Given the description of an element on the screen output the (x, y) to click on. 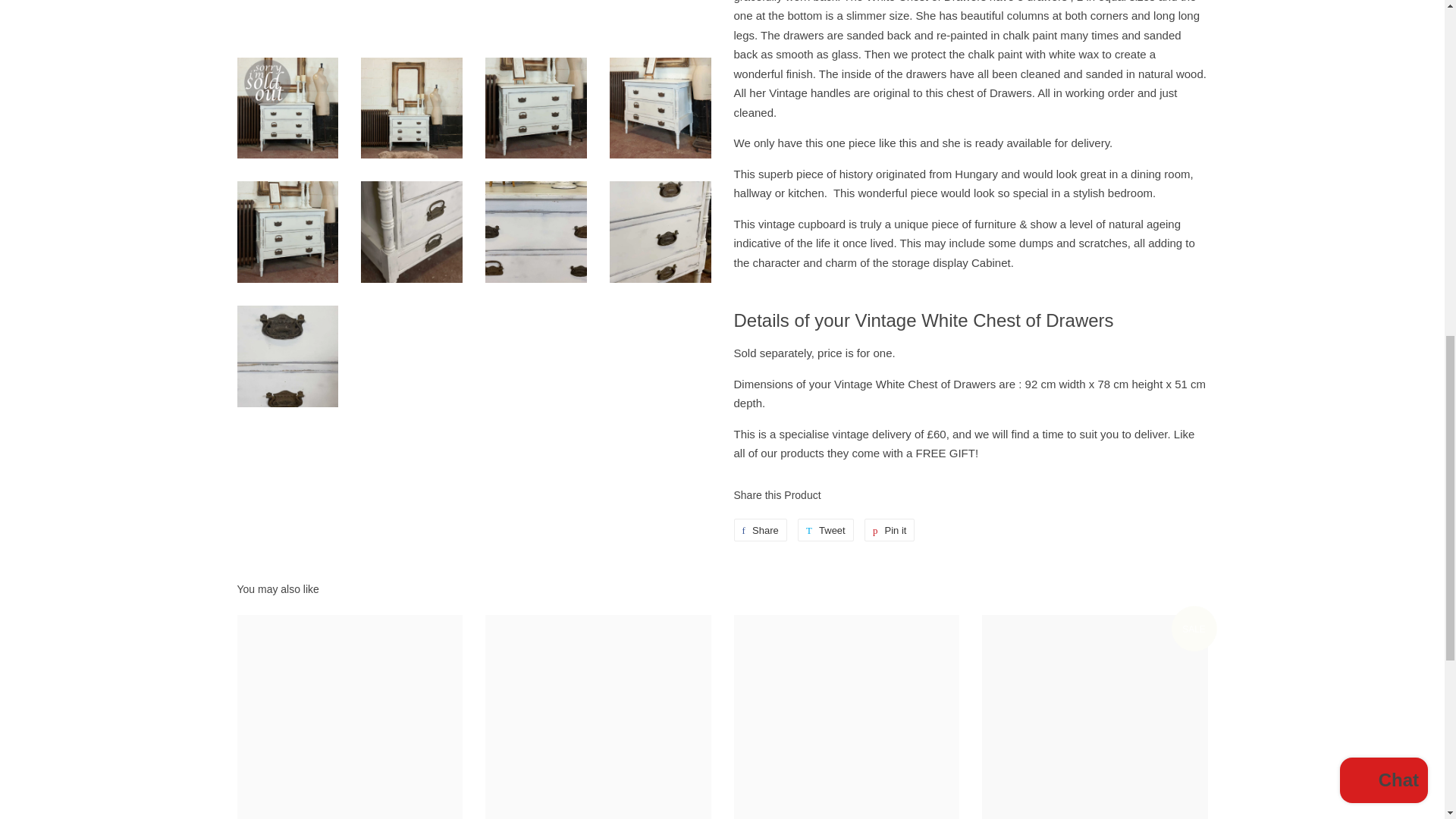
Pin on Pinterest (889, 529)
Tweet on Twitter (825, 529)
Share on Facebook (760, 529)
